Given the description of an element on the screen output the (x, y) to click on. 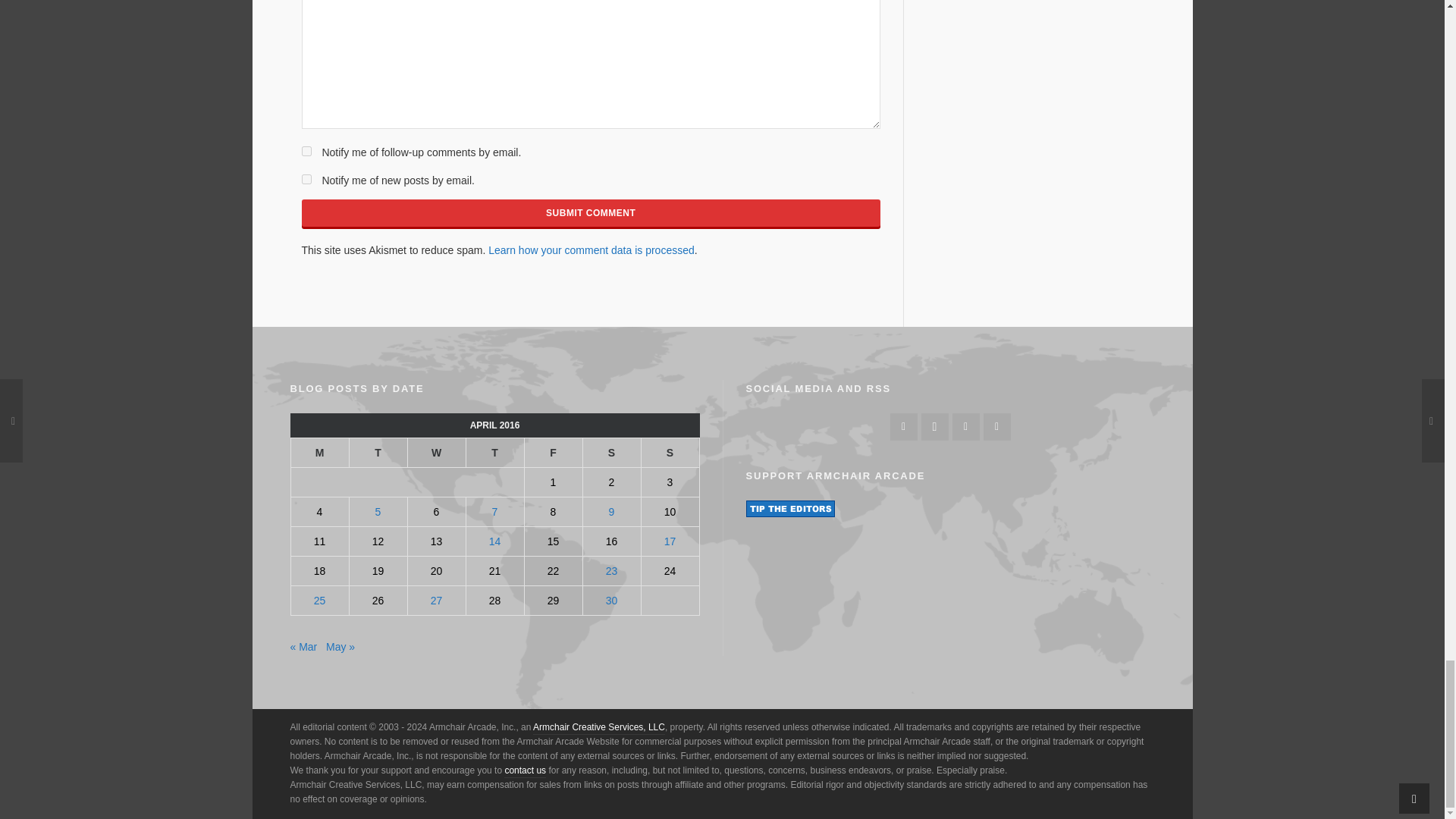
subscribe (306, 179)
Submit Comment (590, 212)
subscribe (306, 151)
